Given the description of an element on the screen output the (x, y) to click on. 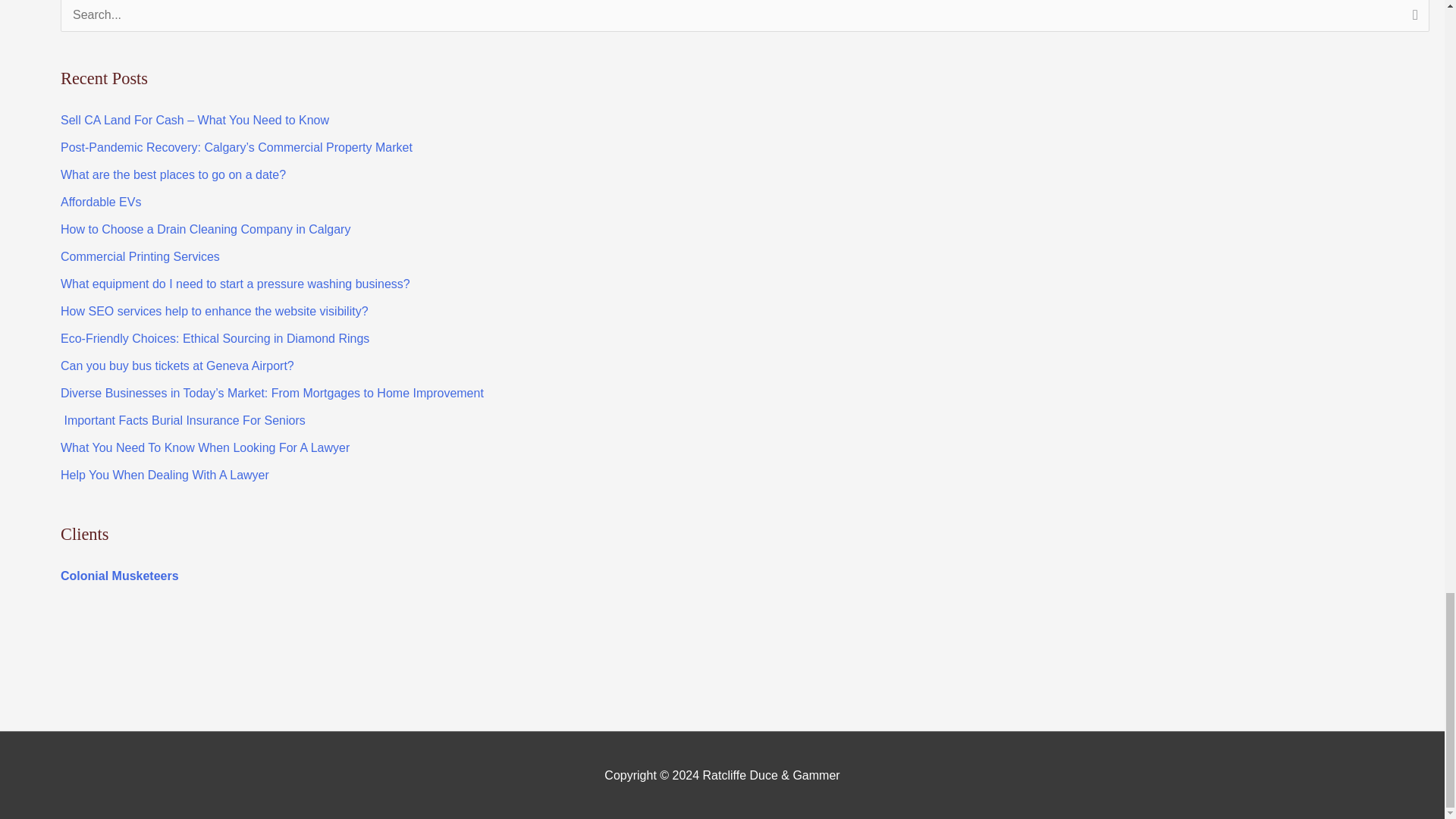
How to Choose a Drain Cleaning Company in Calgary (205, 228)
Commercial Printing Services (140, 256)
What You Need To Know When Looking For A Lawyer (205, 447)
How SEO services help to enhance the website visibility? (214, 310)
Eco-Friendly Choices: Ethical Sourcing in Diamond Rings (215, 338)
Search (1411, 20)
Colonial Musketeers (120, 575)
Can you buy bus tickets at Geneva Airport? (177, 365)
 Important Facts Burial Insurance For Seniors (183, 420)
Affordable EVs (101, 201)
Help You When Dealing With A Lawyer (165, 474)
What are the best places to go on a date? (173, 174)
Search (1411, 20)
Search (1411, 20)
